Given the description of an element on the screen output the (x, y) to click on. 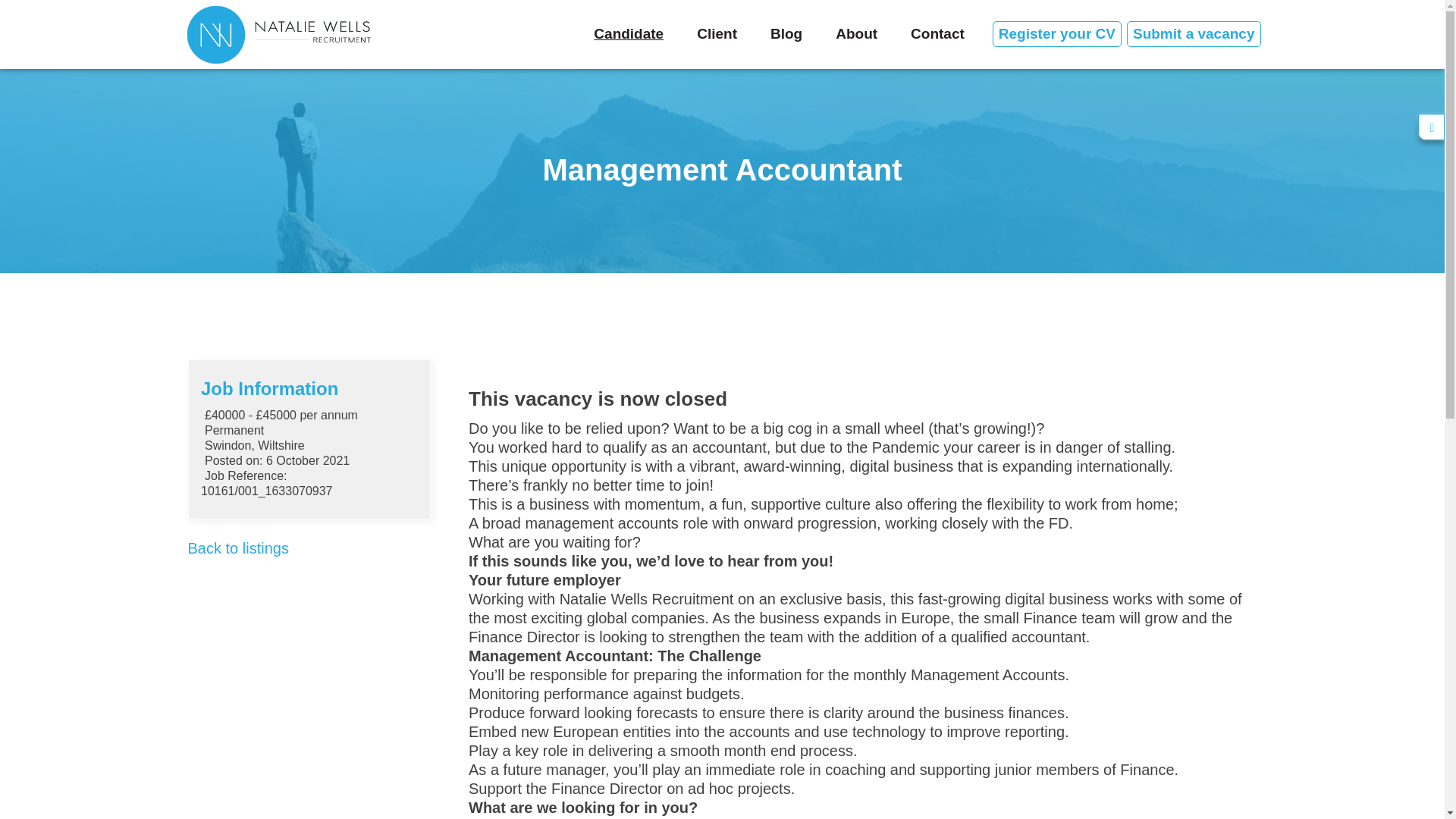
Submit a vacancy (1193, 33)
Blog (786, 33)
Candidate (628, 33)
Client (716, 33)
About Natalie Wells Recruitment (855, 33)
Client (716, 33)
Contact Natalie Wells (937, 33)
Contact (937, 33)
About (855, 33)
Register your CV (1056, 33)
Candidate (628, 33)
Back to listings (237, 547)
Register your CV (1056, 33)
Submit a vacancy (1193, 33)
